Given the description of an element on the screen output the (x, y) to click on. 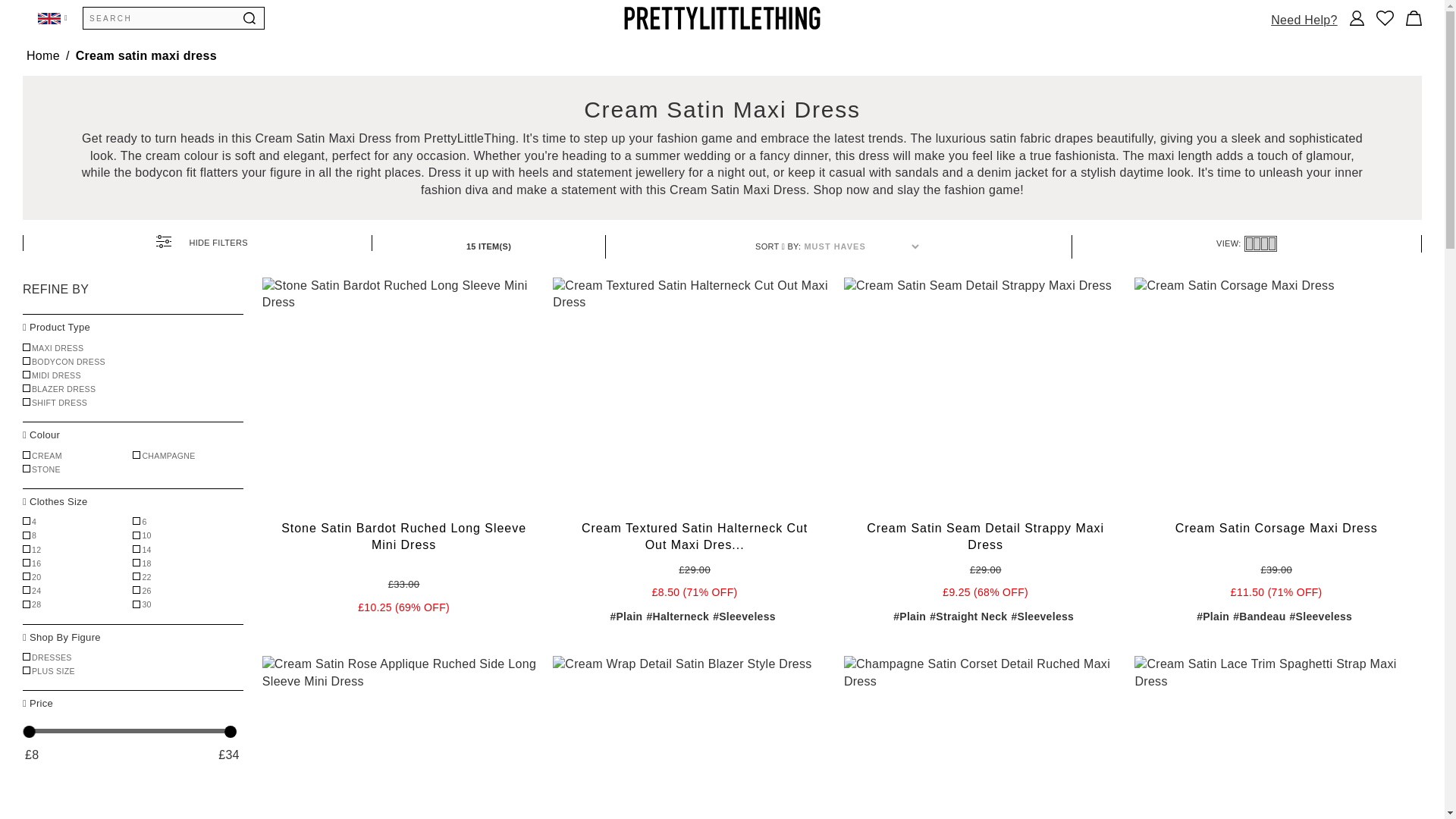
Need Help? (1304, 17)
